Given the description of an element on the screen output the (x, y) to click on. 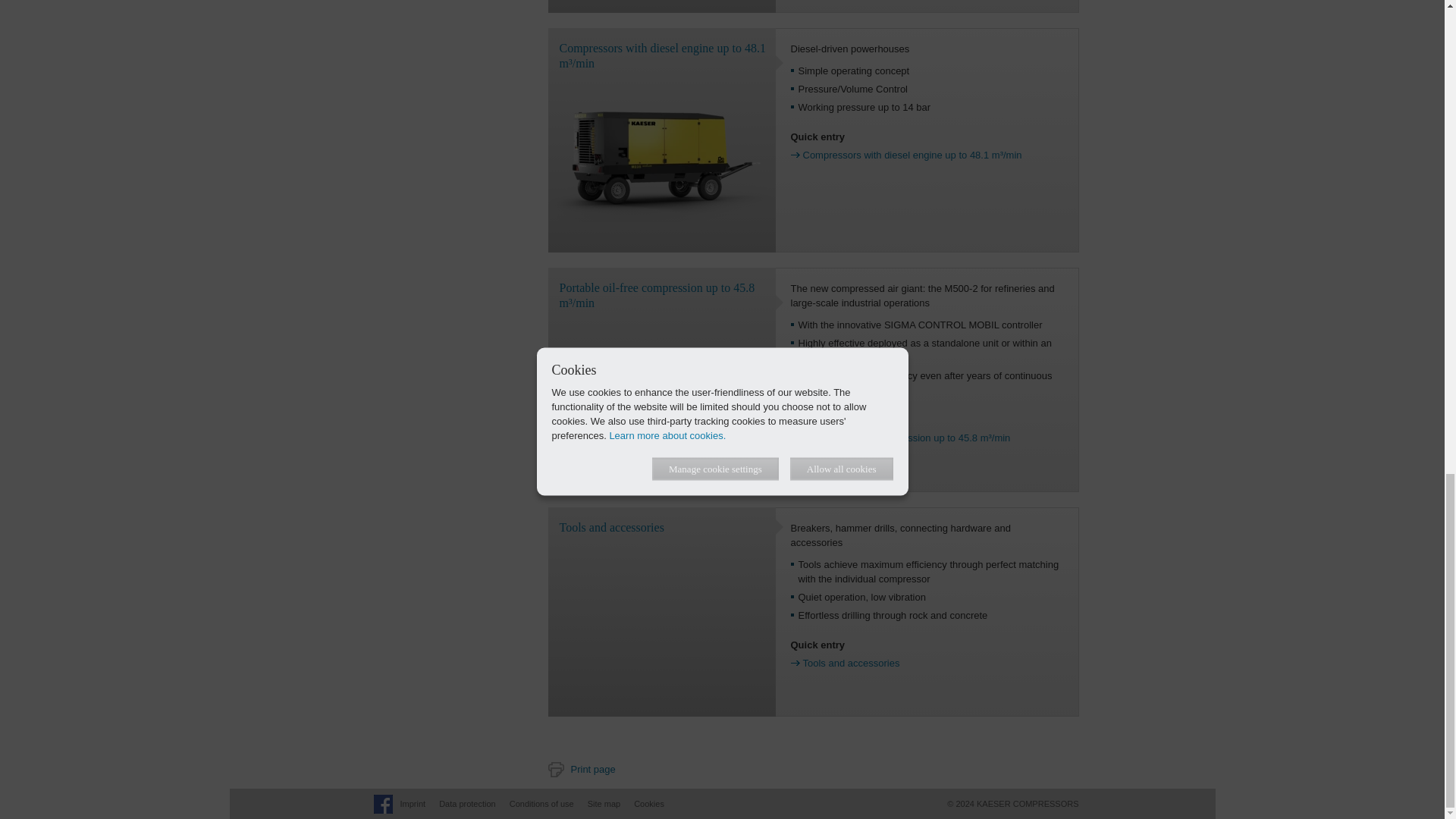
MOBILAIR M235 (660, 157)
Compressed air tools and accessories (660, 621)
